Given the description of an element on the screen output the (x, y) to click on. 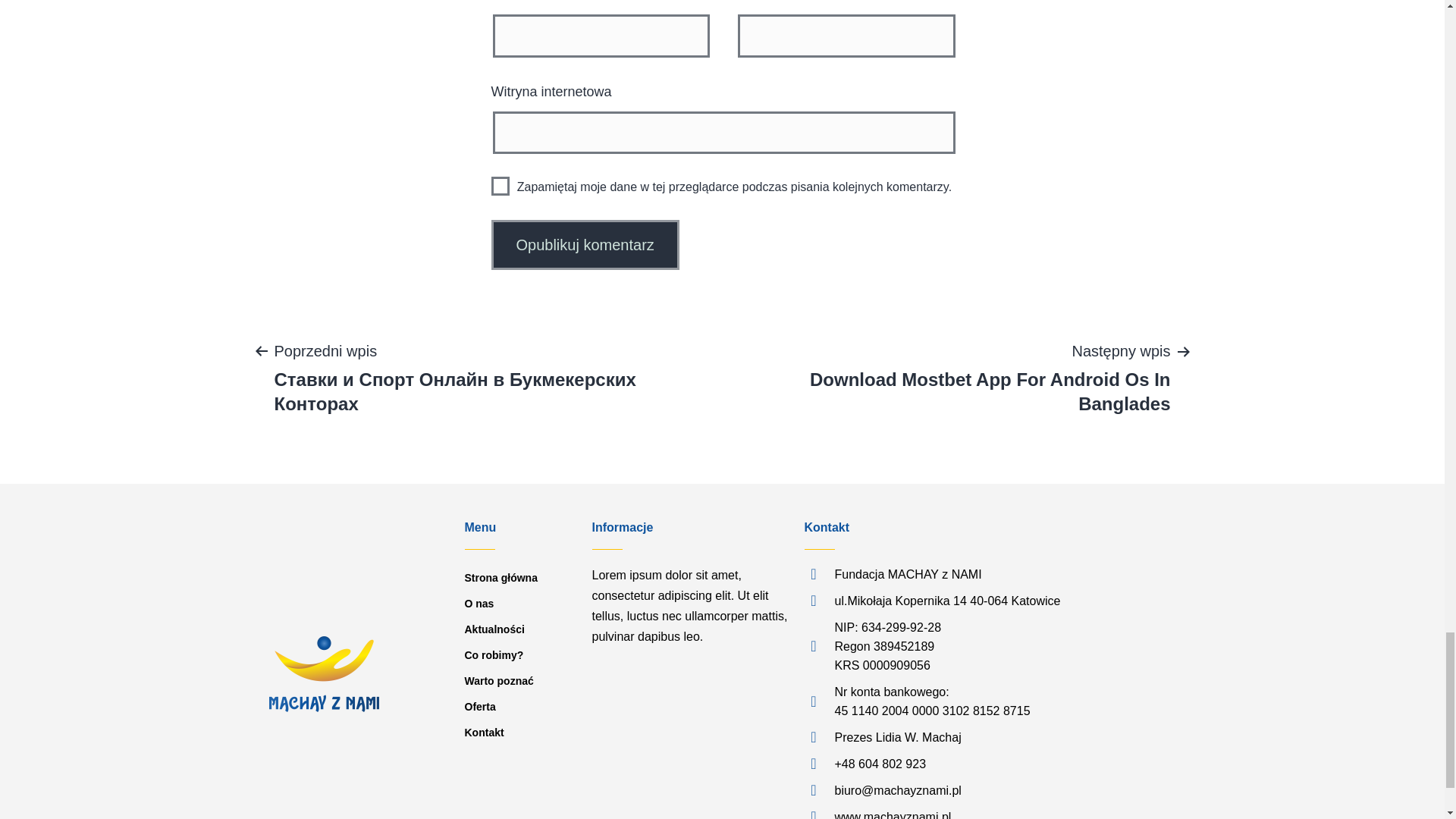
Opublikuj komentarz (585, 245)
www.machayznami.pl (1023, 813)
Co robimy? (520, 655)
Oferta (520, 706)
O nas (520, 603)
Kontakt (520, 732)
yes (500, 185)
Opublikuj komentarz (585, 245)
